Given the description of an element on the screen output the (x, y) to click on. 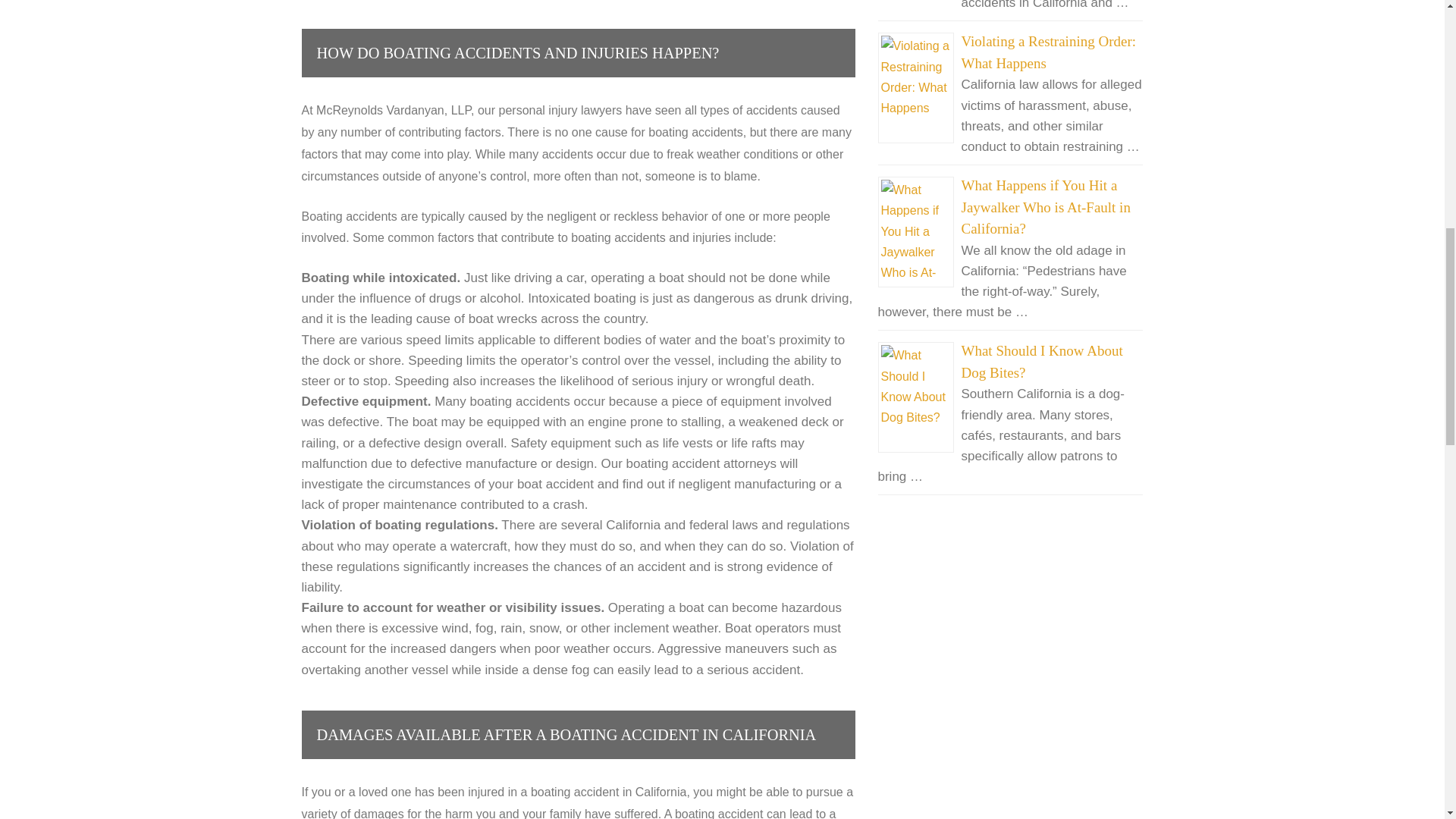
What Should I Know About Dog Bites? (1041, 361)
Violating a Restraining Order: What Happens (1048, 52)
